Given the description of an element on the screen output the (x, y) to click on. 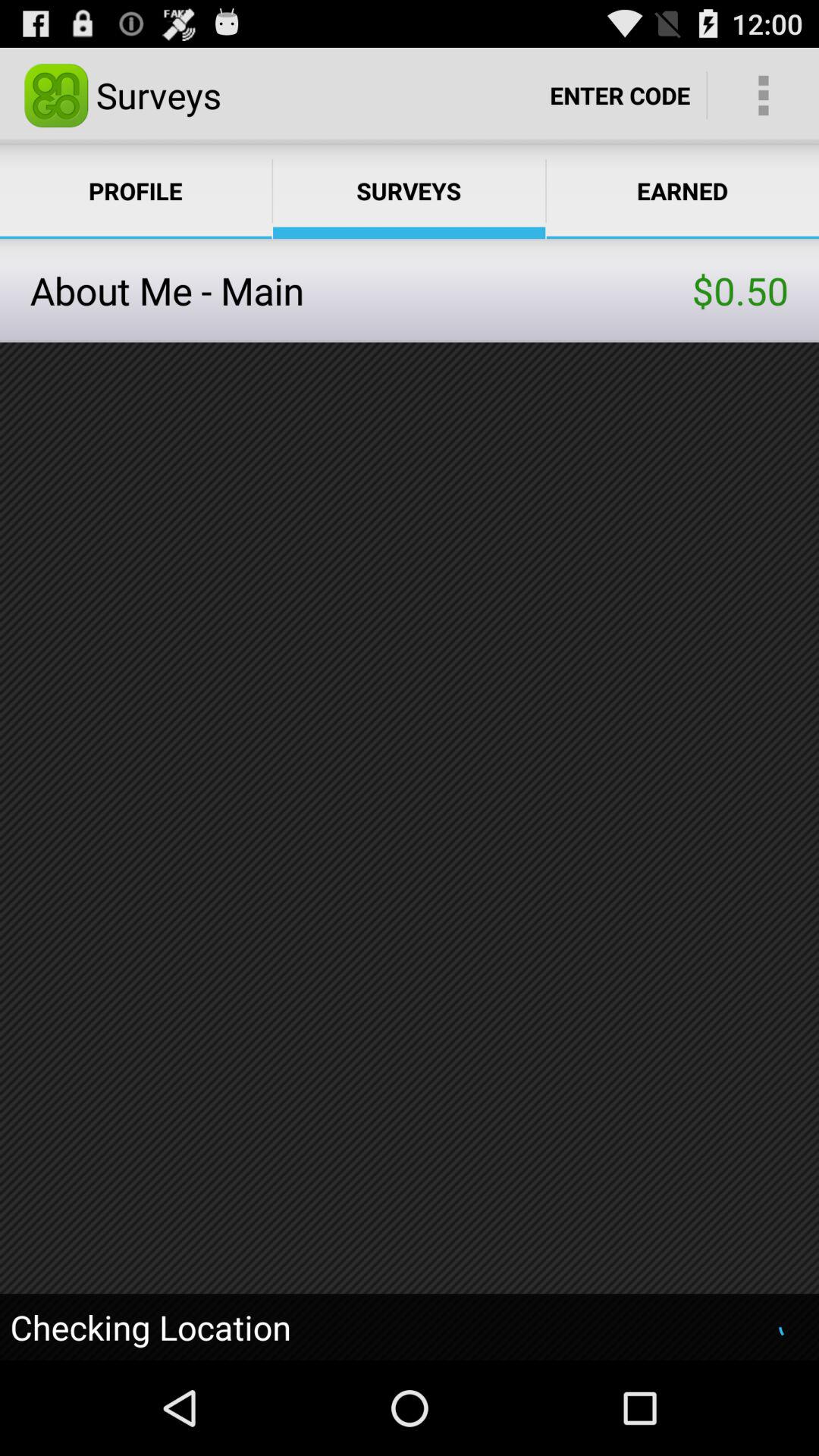
swipe until about me - main (361, 290)
